Given the description of an element on the screen output the (x, y) to click on. 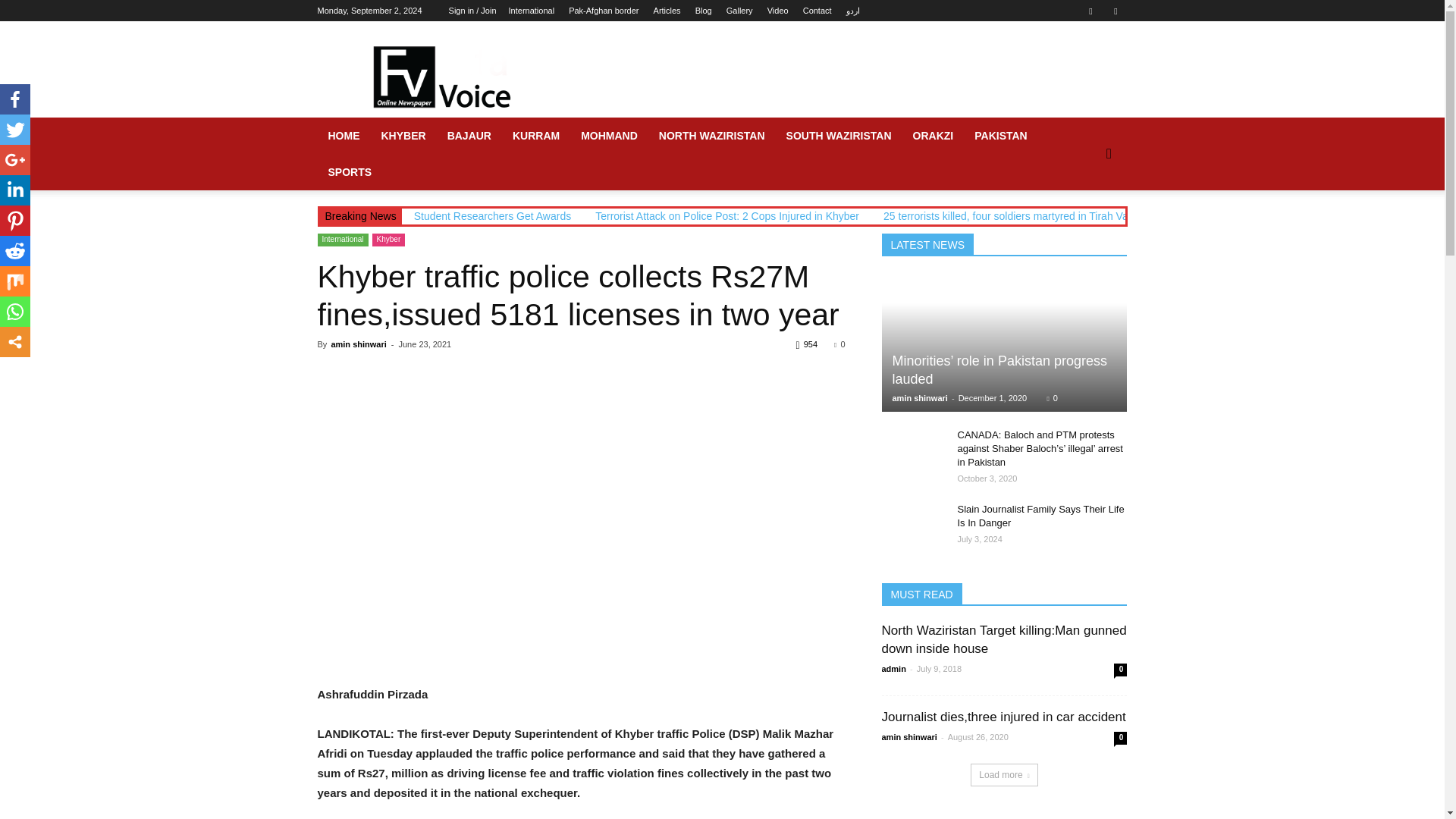
Google plus (15, 159)
BAJAUR (469, 135)
Pak-Afghan border (604, 10)
Facebook (1090, 10)
Linkedin (15, 190)
International (531, 10)
Blog (703, 10)
Articles (667, 10)
Facebook (15, 99)
Contact (817, 10)
